Given the description of an element on the screen output the (x, y) to click on. 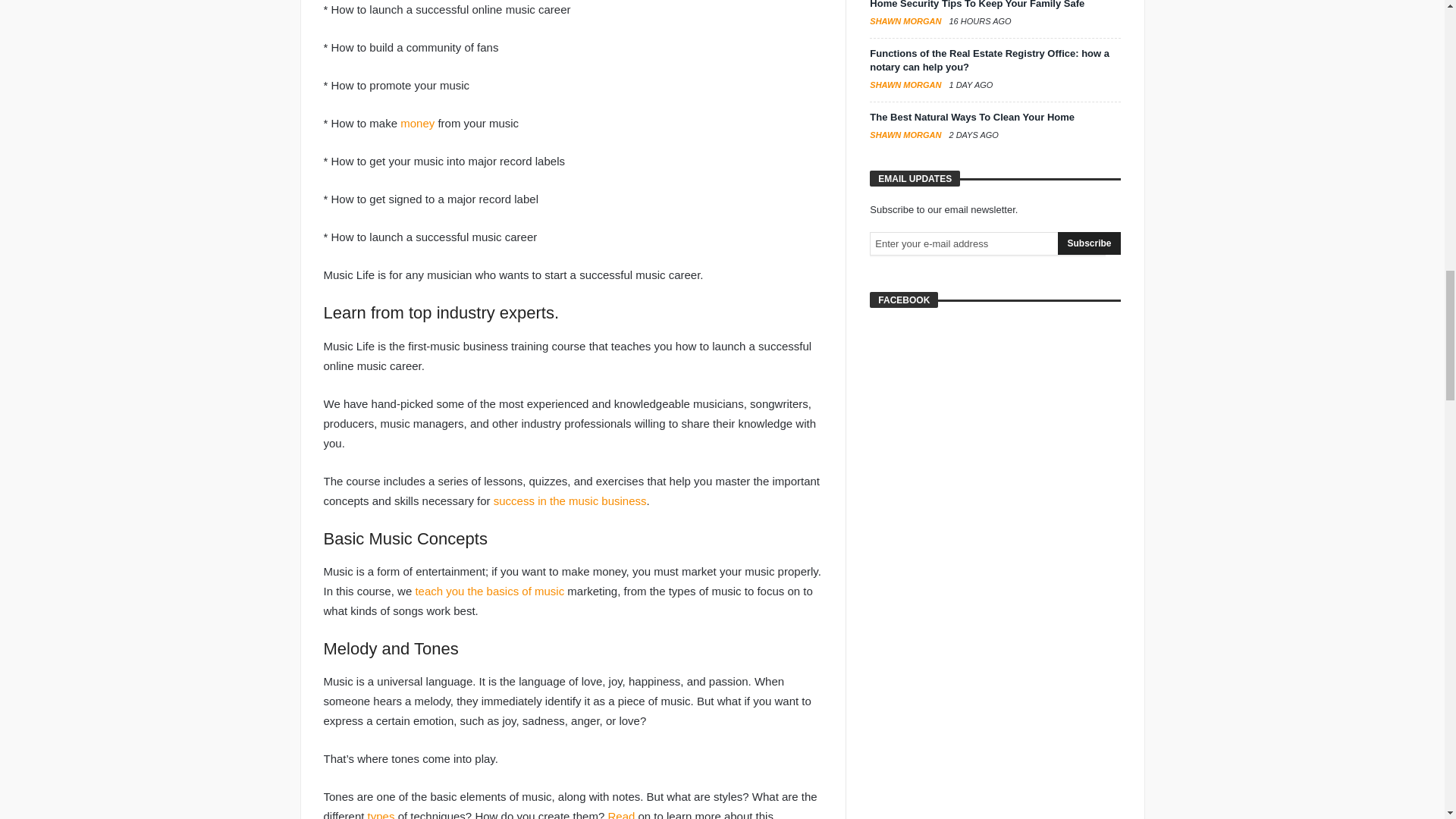
Enter your e-mail address (987, 243)
Enter your e-mail address (987, 243)
Subscribe (1088, 242)
Subscribe (1088, 242)
